Given the description of an element on the screen output the (x, y) to click on. 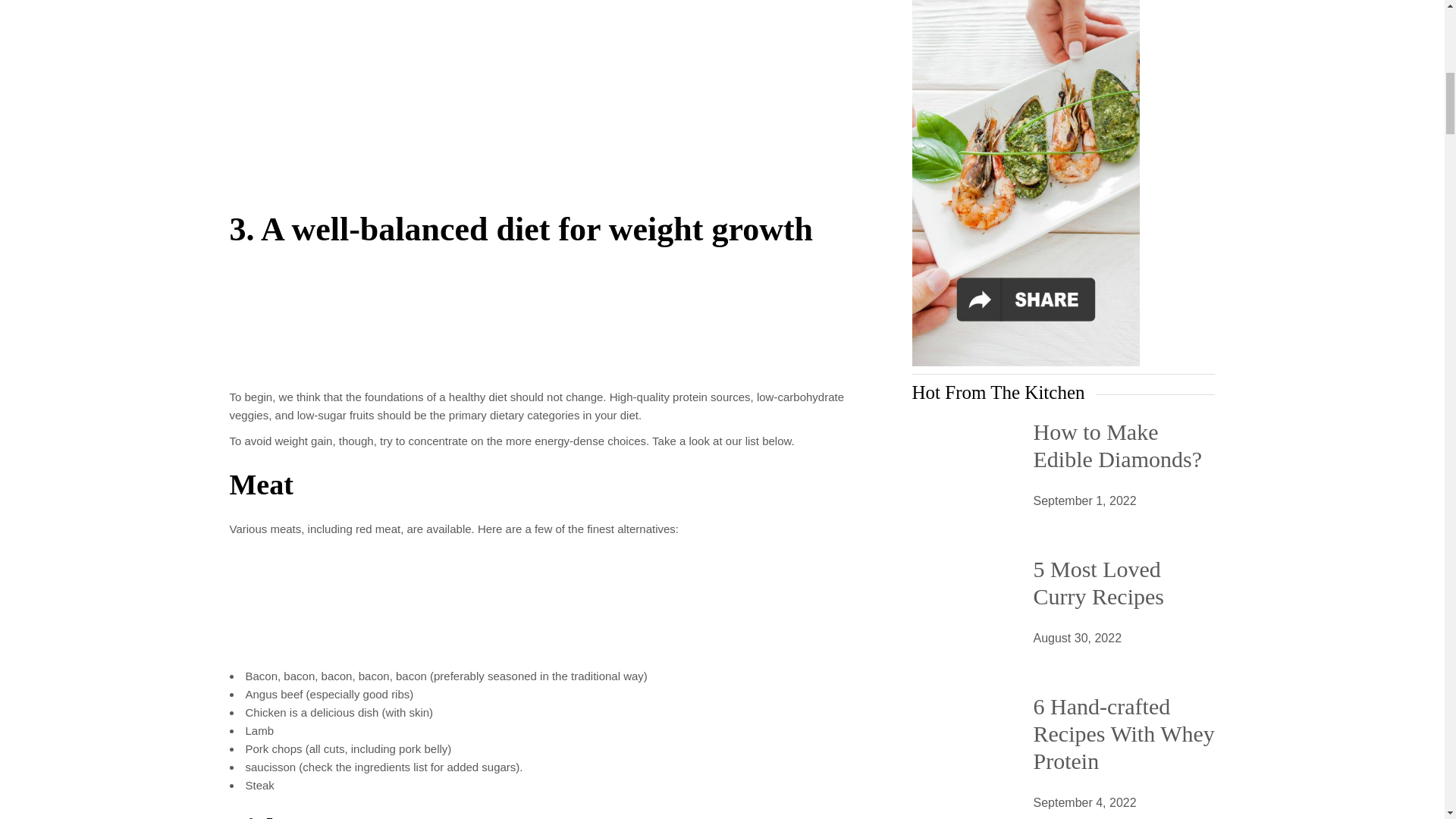
Title Text:  (1076, 638)
Title Text:  (1083, 501)
Title Text:  (1083, 803)
